Given the description of an element on the screen output the (x, y) to click on. 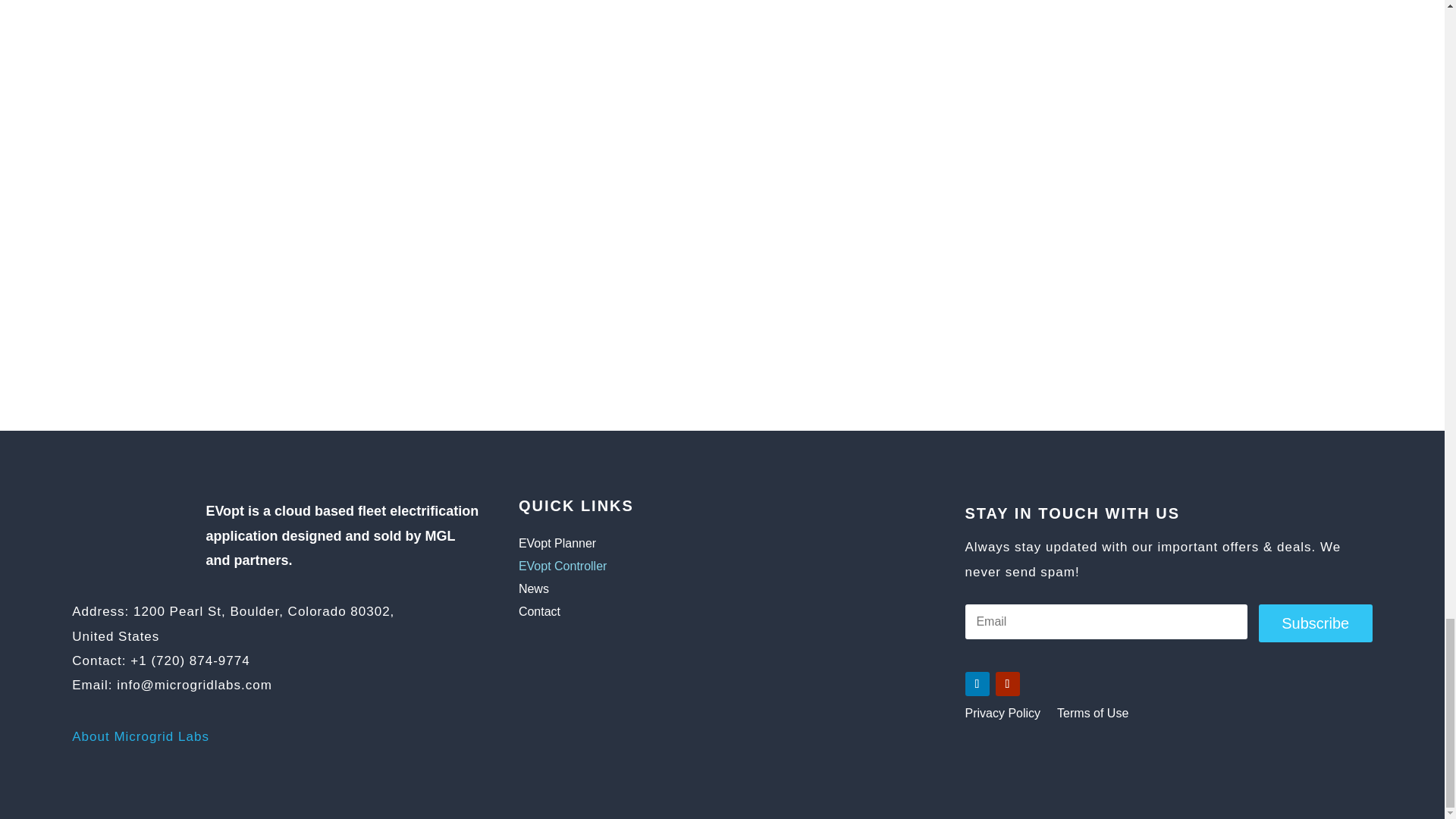
Subscribe (1316, 623)
EVopt Controller (662, 569)
About Microgrid Labs (140, 736)
Terms of Use (1092, 716)
Follow on Youtube (1006, 683)
EVopt Planner (662, 546)
Privacy Policy (1002, 716)
Contact (662, 614)
News (662, 591)
Follow on LinkedIn (975, 683)
